Given the description of an element on the screen output the (x, y) to click on. 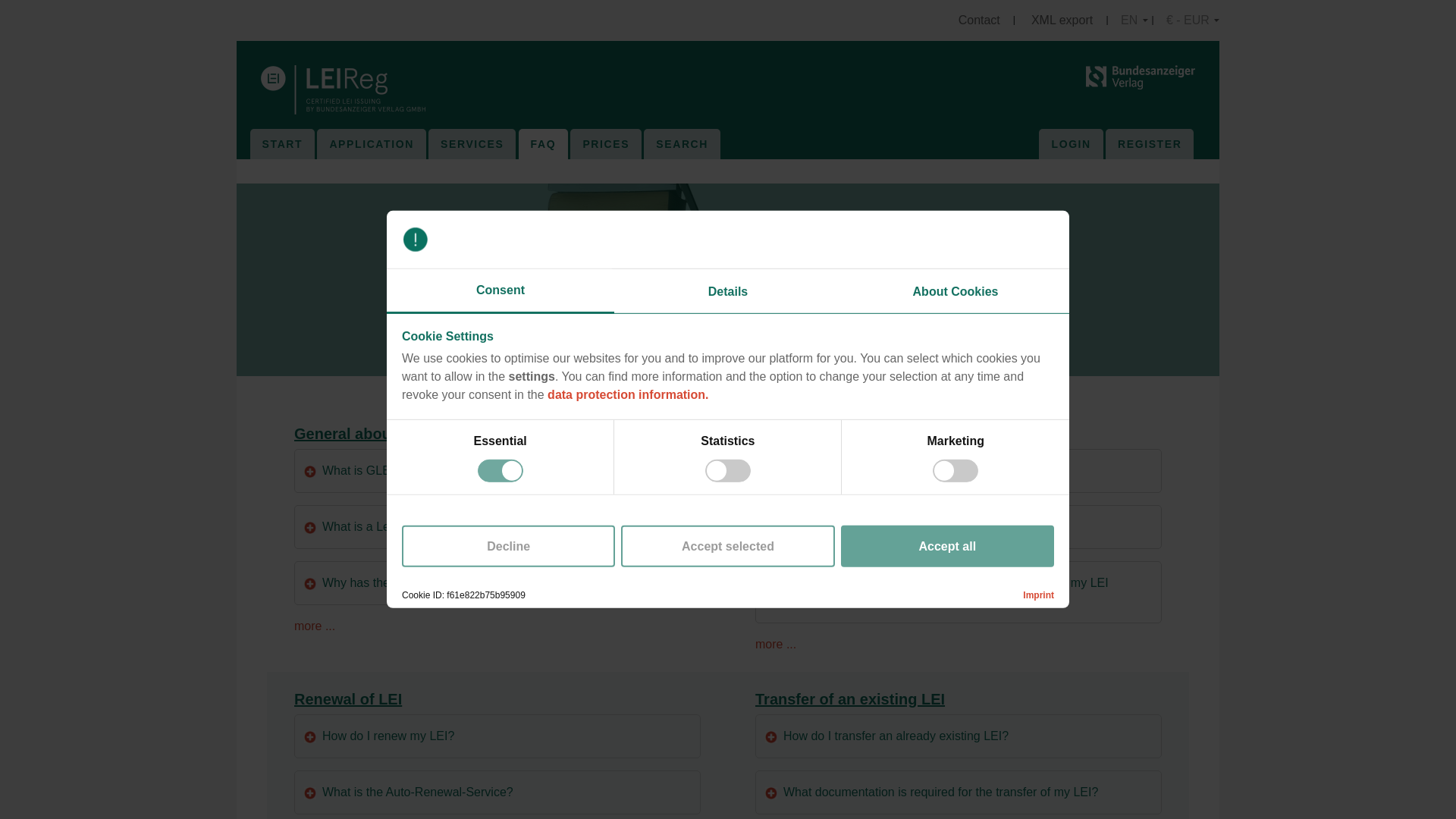
Search (681, 143)
Start (282, 143)
START (282, 143)
FAQ (543, 143)
Contact (979, 20)
APPLICATION (371, 143)
SERVICES (471, 143)
FAQ (543, 143)
Prices (605, 143)
Application (371, 143)
XML export (1062, 20)
Services (471, 143)
